Given the description of an element on the screen output the (x, y) to click on. 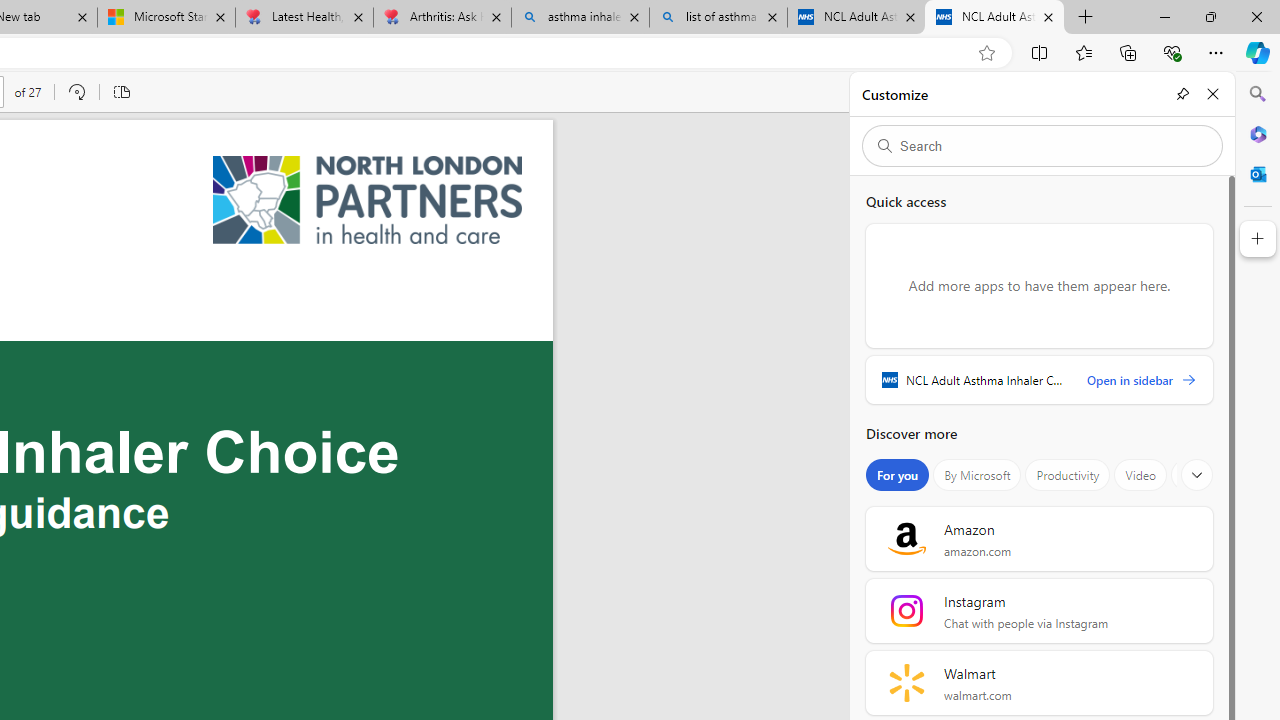
Arthritis: Ask Health Professionals (441, 17)
Unlabeled graphic (367, 200)
For you (898, 475)
Show more (1197, 475)
Music (1197, 475)
Pin side pane (1182, 93)
